Given the description of an element on the screen output the (x, y) to click on. 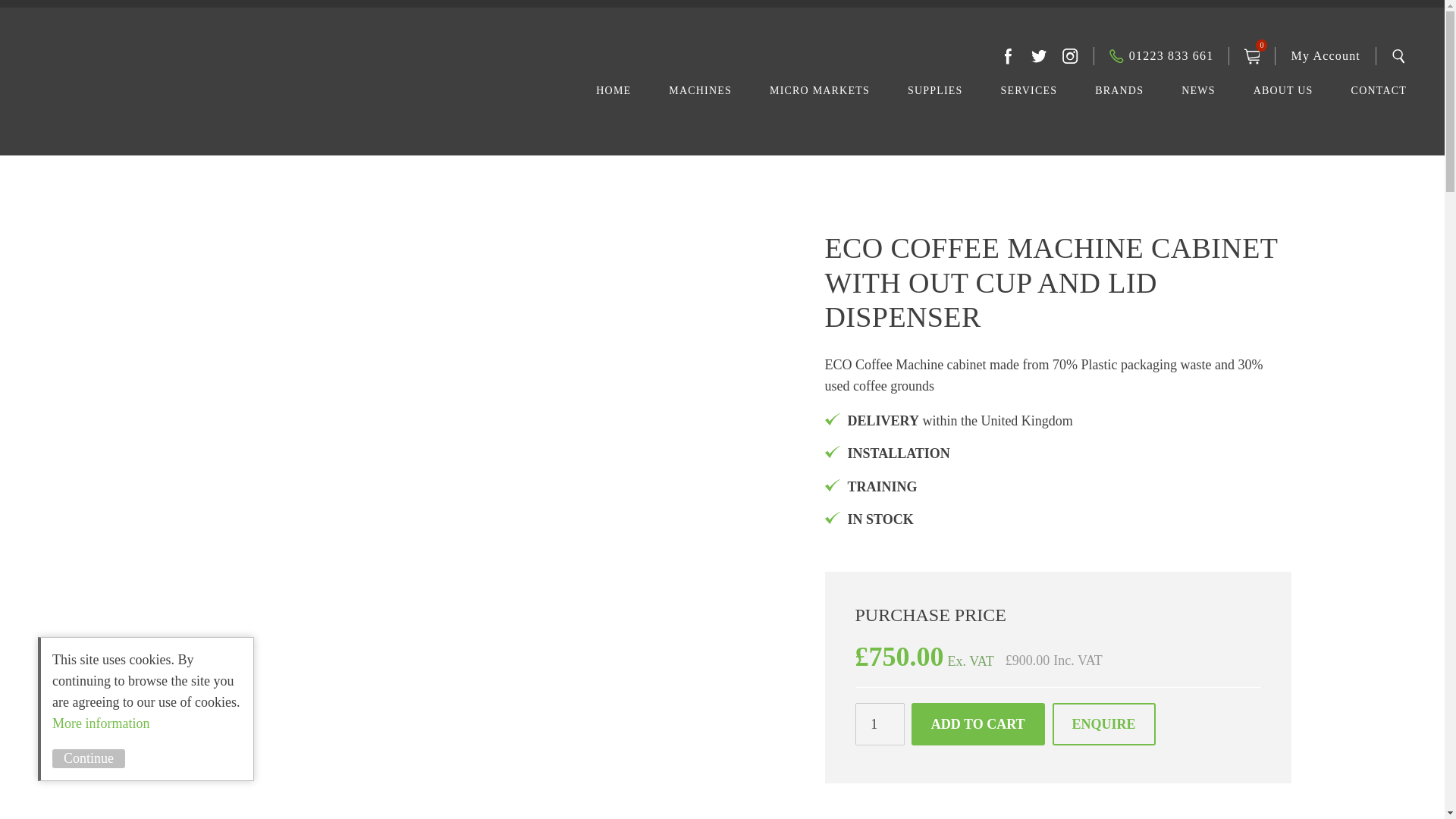
SUPPLIES (934, 97)
My Account (1324, 55)
Simply Great Coffee (221, 102)
01223 833 661 (1161, 55)
MACHINES (700, 97)
MICRO MARKETS (819, 97)
HOME (612, 97)
1 (880, 723)
